Given the description of an element on the screen output the (x, y) to click on. 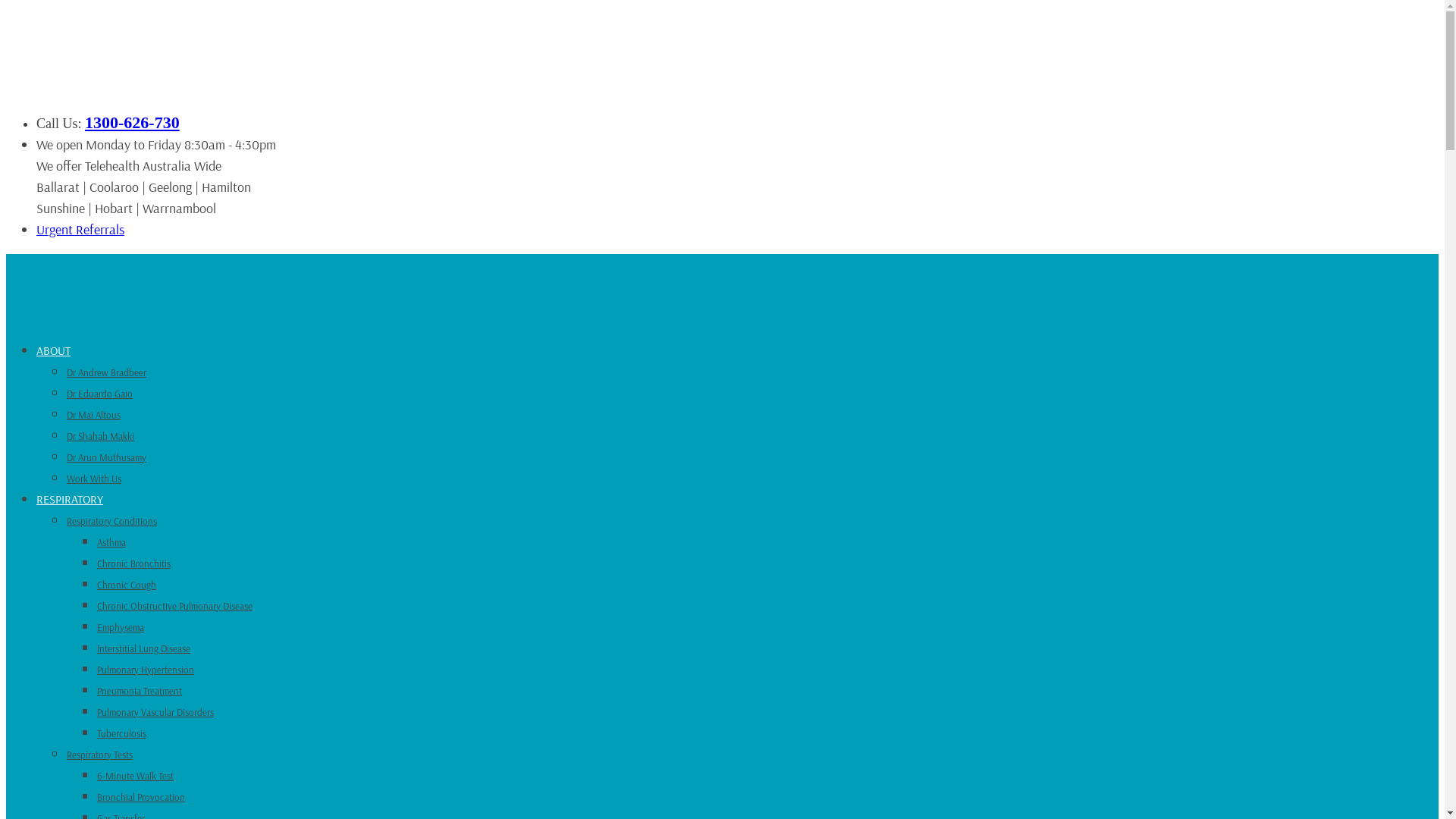
1300-626-730 Element type: text (131, 121)
Urgent Referrals Element type: text (80, 229)
Bronchial Provocation Element type: text (141, 796)
Pulmonary Hypertension Element type: text (145, 669)
Emphysema Element type: text (120, 627)
Dr Shahab Makki Element type: text (100, 435)
Tuberculosis Element type: text (121, 733)
Asthma Element type: text (111, 542)
6-Minute Walk Test Element type: text (135, 775)
ABOUT Element type: text (53, 349)
Chronic Bronchitis Element type: text (133, 563)
Chronic Obstructive Pulmonary Disease Element type: text (174, 605)
Pulmonary Vascular Disorders Element type: text (155, 712)
Dr Eduardo Gaio Element type: text (99, 393)
Dr Mai Altous Element type: text (93, 414)
Pneumonia Treatment Element type: text (139, 690)
Respiratory Tests Element type: text (99, 754)
Chronic Cough Element type: text (126, 584)
Dr Andrew Bradbeer Element type: text (106, 372)
Work With Us Element type: text (93, 478)
Dr Arun Muthusamy Element type: text (106, 457)
Interstitial Lung Disease Element type: text (143, 648)
RESPIRATORY Element type: text (69, 498)
Respiratory Conditions Element type: text (111, 520)
